Given the description of an element on the screen output the (x, y) to click on. 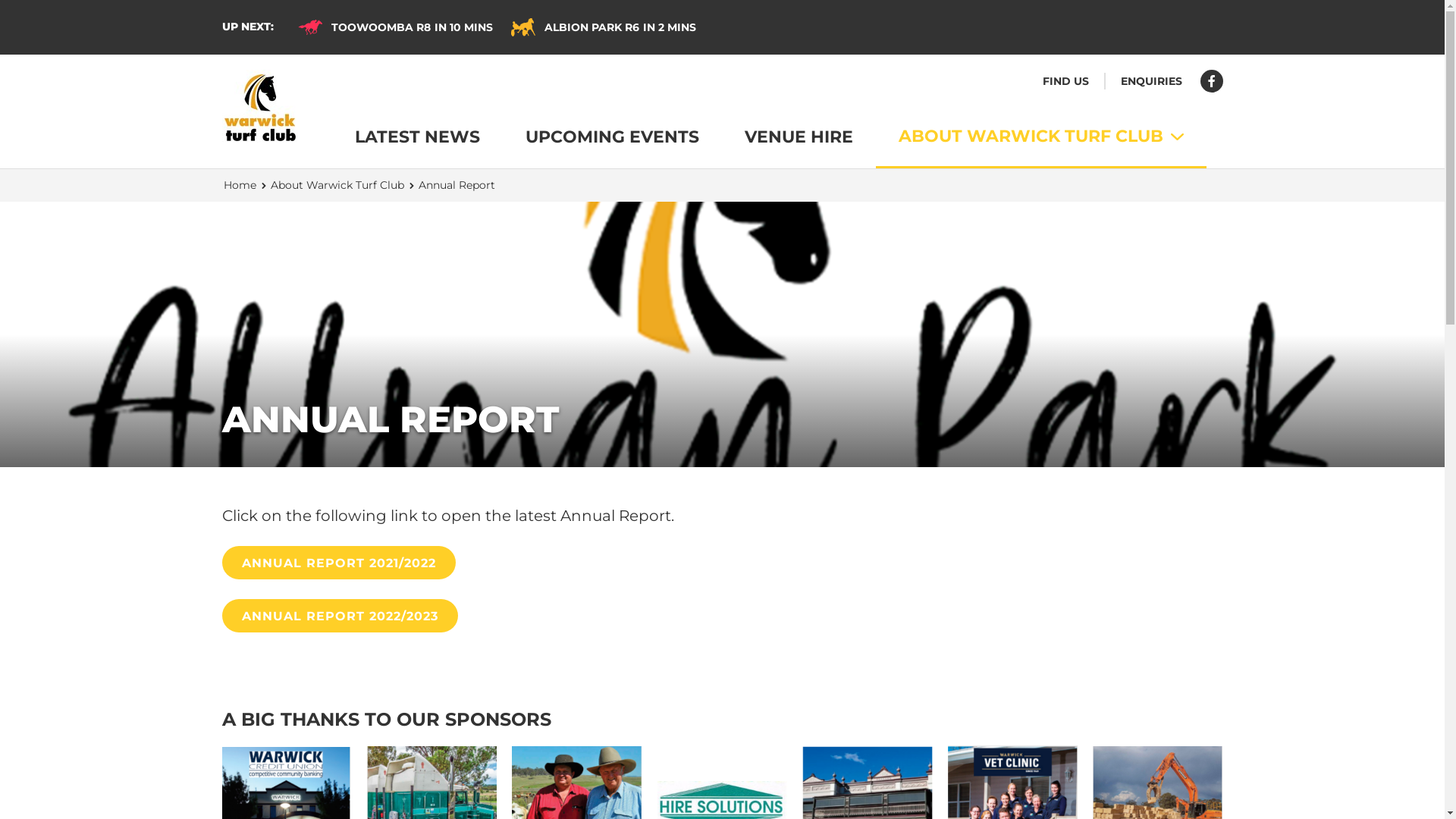
ENQUIRIES Element type: text (1151, 81)
ANNUAL REPORT 2022/2023 Element type: text (339, 615)
LATEST NEWS Element type: text (417, 137)
ABOUT WARWICK TURF CLUB Element type: text (1040, 136)
TOOWOOMBA R8
IN 10 MINS Element type: text (394, 27)
ALBION PARK R6
IN 2 MINS Element type: text (603, 27)
Warwick Turf Club homepage Element type: text (259, 107)
About Warwick Turf Club Element type: text (336, 185)
UPCOMING EVENTS Element type: text (611, 137)
ANNUAL REPORT 2021/2022 Element type: text (338, 562)
Home Element type: text (239, 185)
VENUE HIRE Element type: text (798, 137)
Like us on Facebook Element type: text (1210, 80)
FIND US Element type: text (1064, 81)
